Given the description of an element on the screen output the (x, y) to click on. 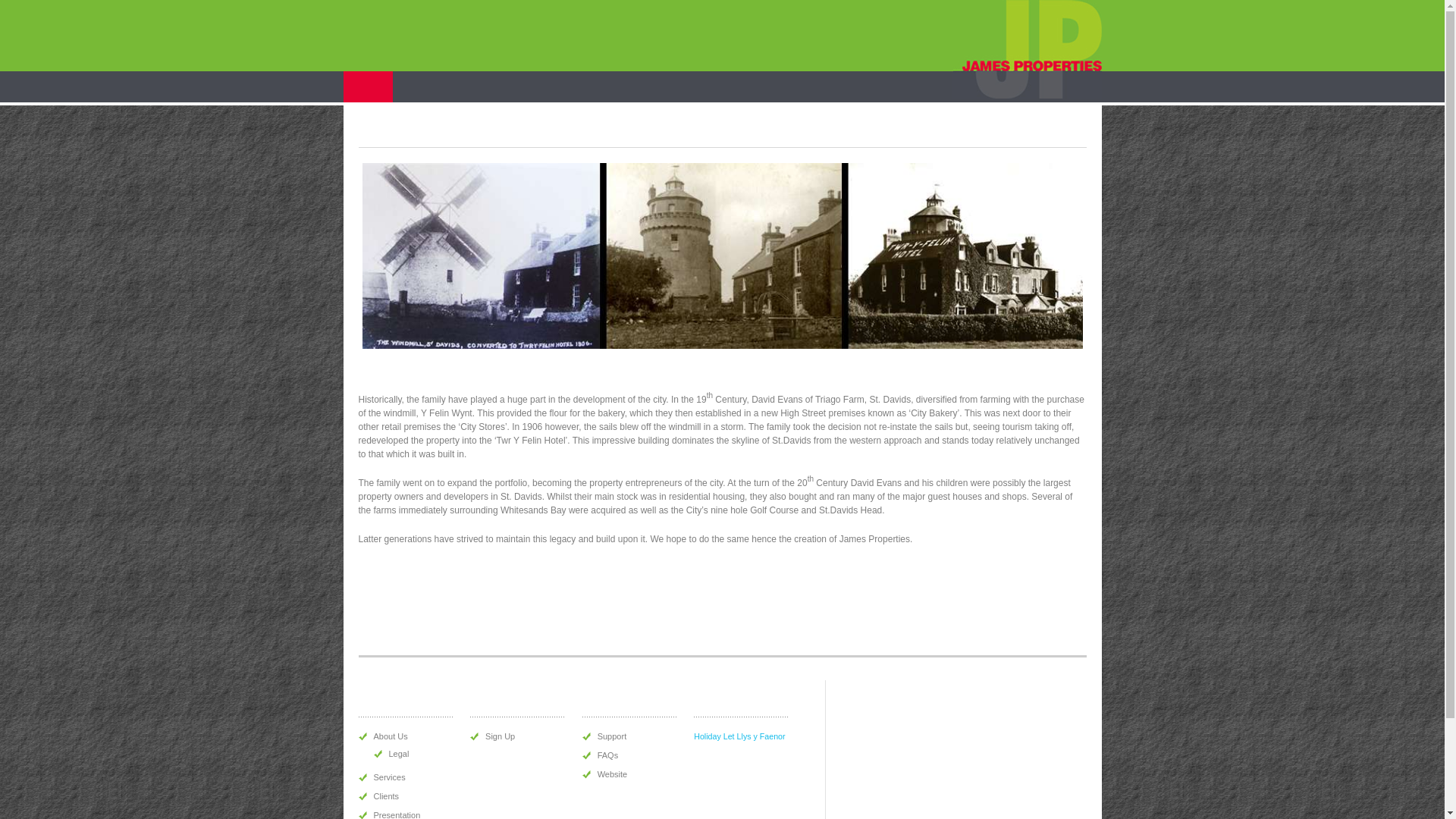
Holiday Let (713, 736)
Click for Home (1027, 49)
About Us (389, 736)
Holiday Let (691, 86)
Home (366, 86)
Llys y Faenor (761, 736)
Presentation (396, 814)
FAQs (607, 755)
Support (611, 736)
Commercial Properties (587, 86)
